Given the description of an element on the screen output the (x, y) to click on. 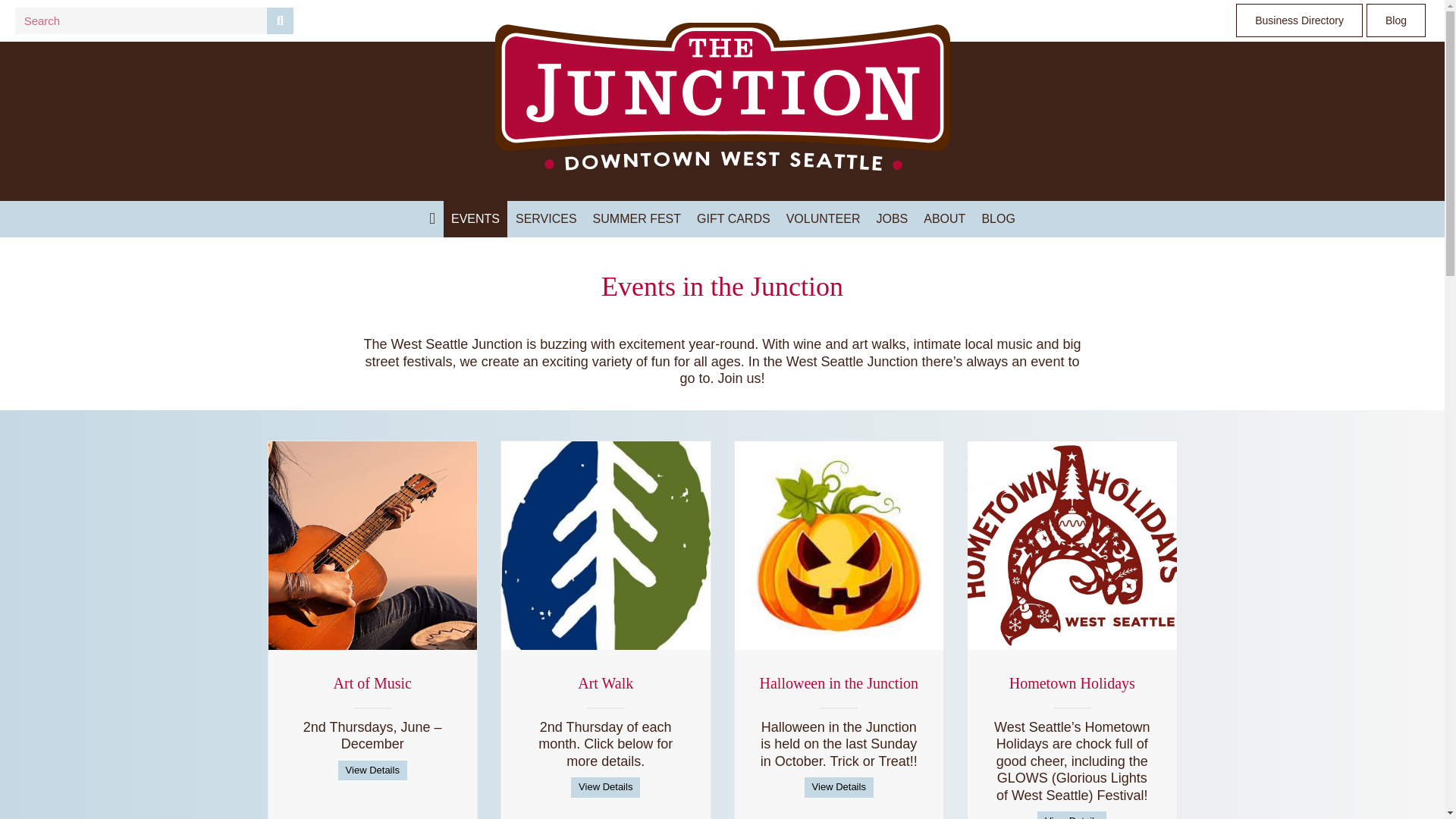
Search (140, 20)
Halloween in the Junction (839, 682)
Art of Music (372, 682)
Art Walk (605, 682)
EVENTS (475, 218)
logo-light (722, 96)
Art Walk (605, 682)
SERVICES (546, 218)
Halloween in the Junction (839, 682)
